Given the description of an element on the screen output the (x, y) to click on. 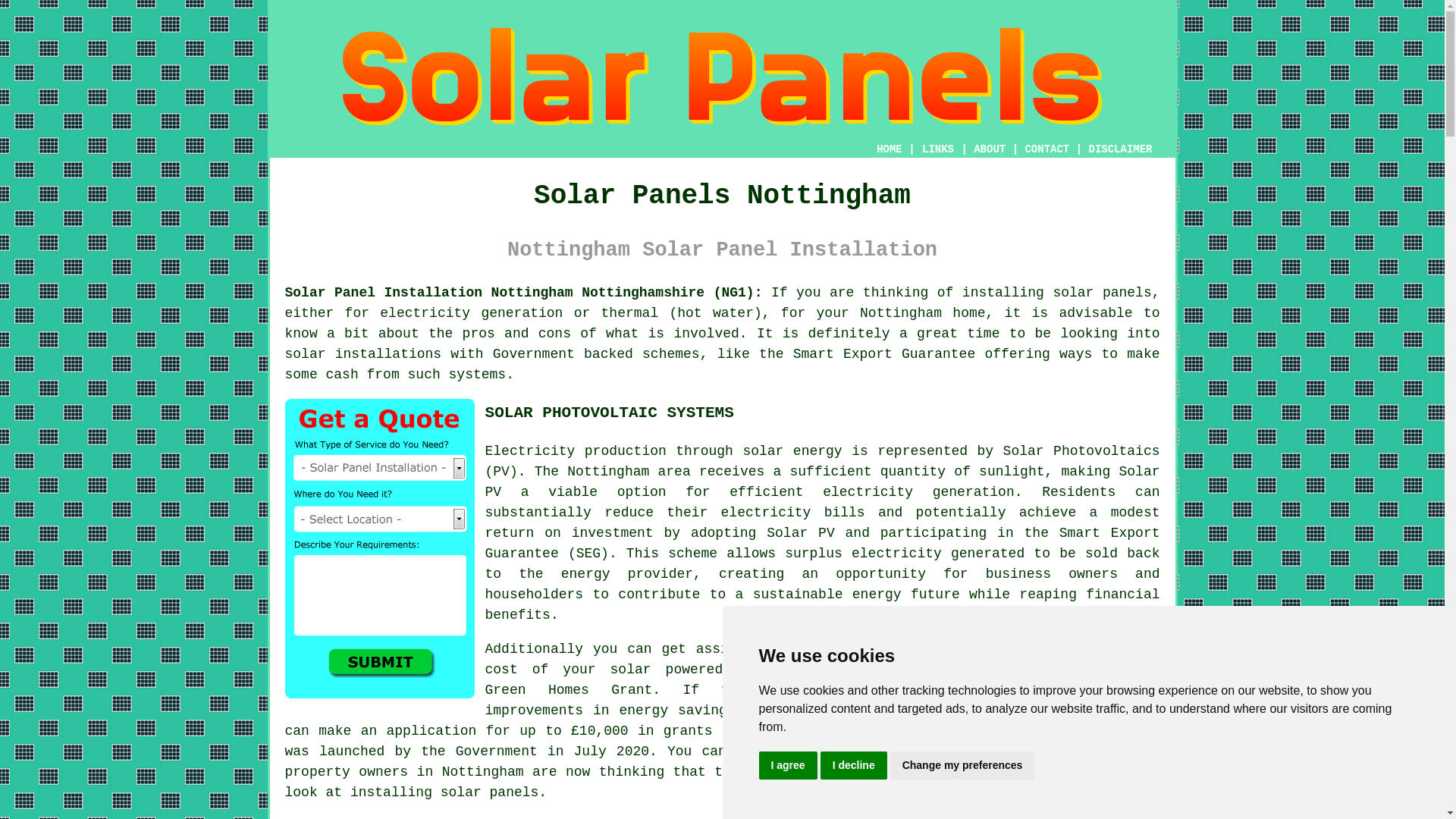
solar energy (791, 450)
sustainable energy (826, 594)
I decline (853, 765)
Change my preferences (962, 765)
solar panels (489, 792)
LINKS (938, 149)
HOME (889, 149)
solar panels (1101, 292)
I agree (787, 765)
Local Solar Panel Installer Nottingham (1046, 699)
